Given the description of an element on the screen output the (x, y) to click on. 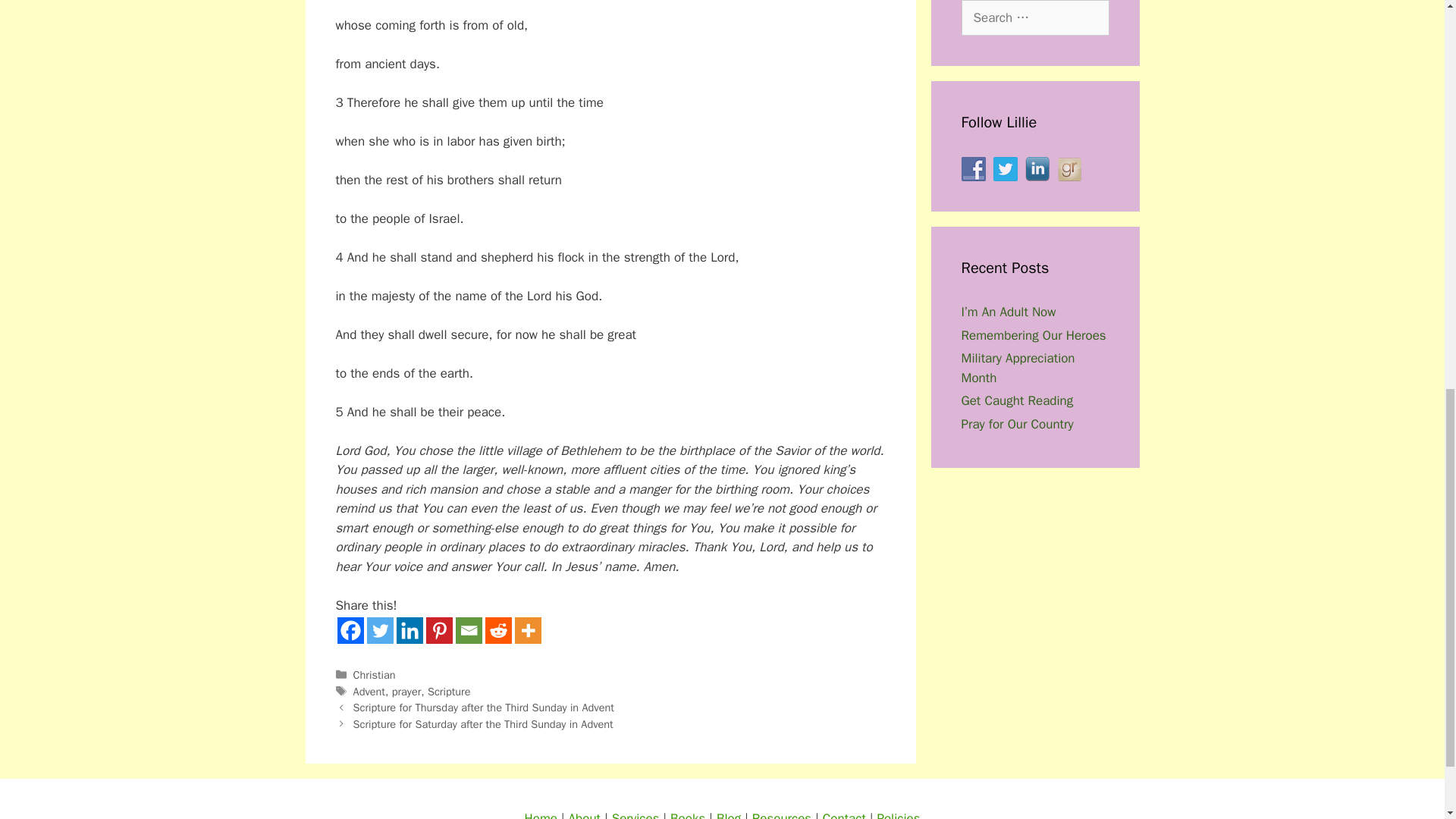
Scripture for Saturday after the Third Sunday in Advent (482, 724)
Search for: (1034, 18)
Follow Me on Twitter (1004, 168)
Get Caught Reading (1017, 400)
Advent (369, 691)
Follow Me on Goodreads (1069, 168)
Linkedin (409, 630)
Twitter (379, 630)
Christian (374, 674)
Scripture (449, 691)
More (526, 630)
Military Appreciation Month (1017, 367)
Scripture for Thursday after the Third Sunday in Advent (483, 707)
Email (467, 630)
Follow Me on LinkedIn (1037, 168)
